Given the description of an element on the screen output the (x, y) to click on. 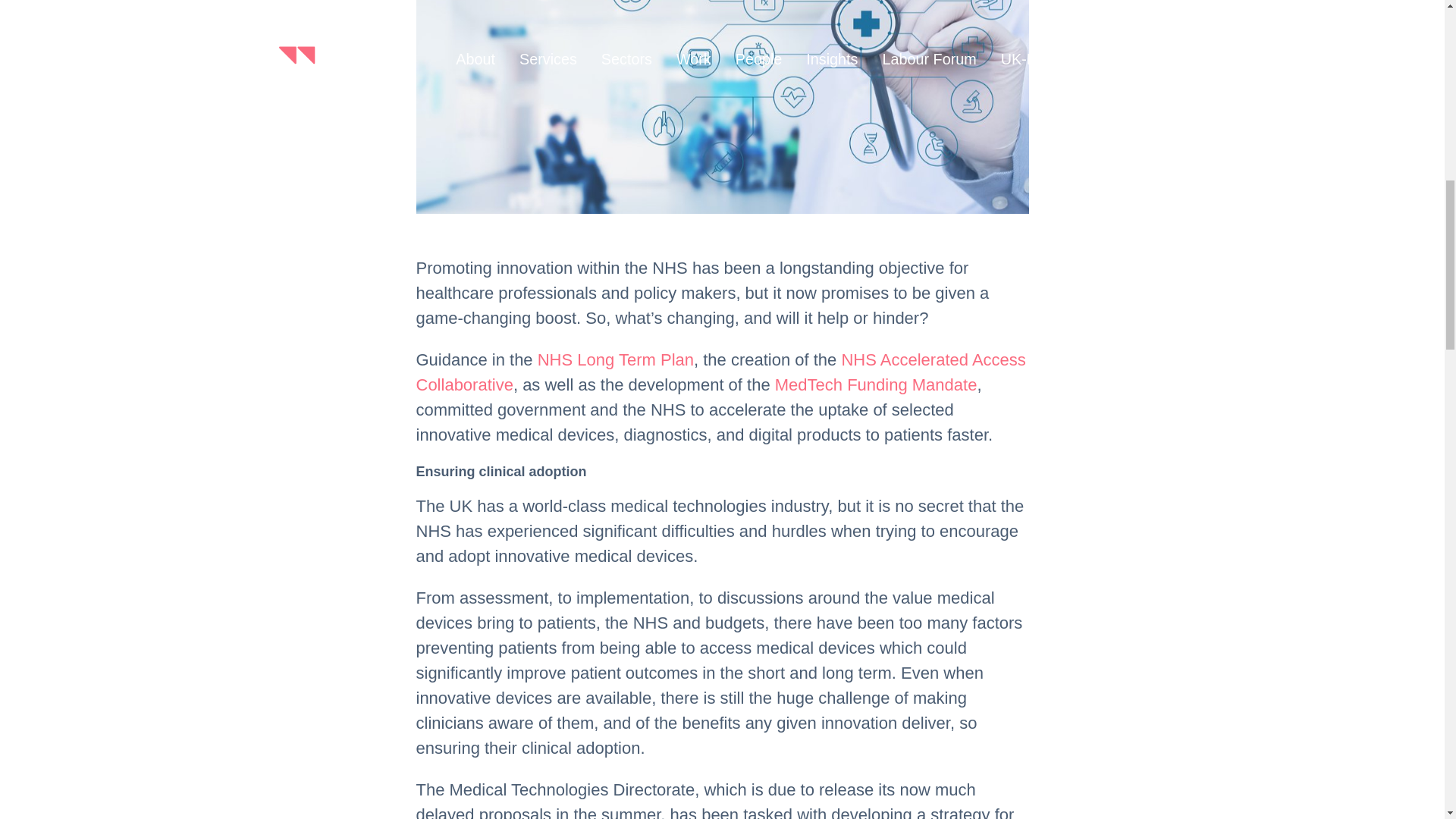
NHS Accelerated Access Collaborative (719, 371)
medical technology.jpg (720, 107)
NHS Long Term Plan (615, 359)
MedTech Funding Mandate (875, 384)
